Given the description of an element on the screen output the (x, y) to click on. 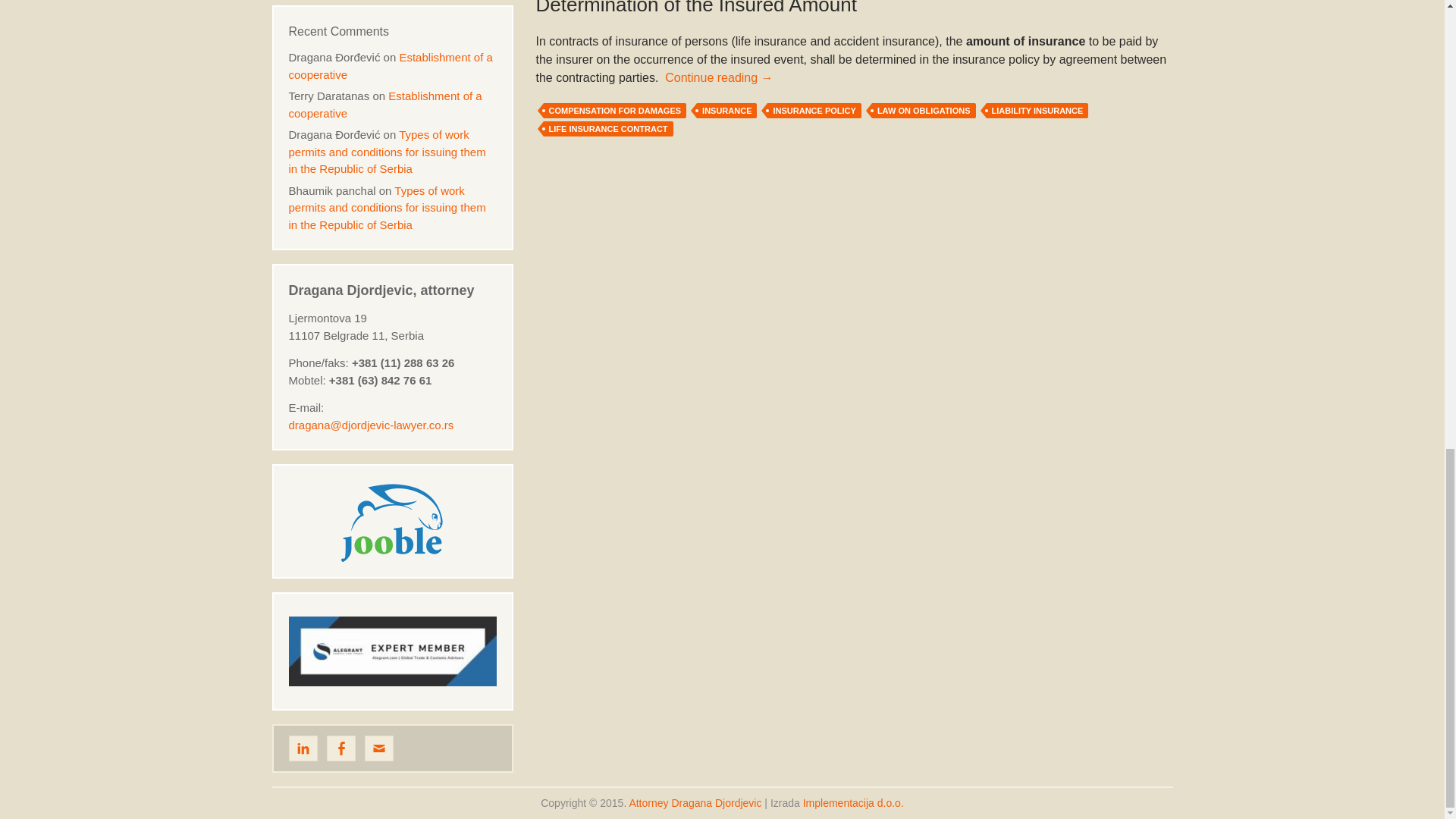
Jooble (392, 520)
INSURANCE POLICY (813, 110)
INSURANCE (727, 110)
COMPENSATION FOR DAMAGES (614, 110)
Attorney Dragana Djordjevic (694, 802)
